Given the description of an element on the screen output the (x, y) to click on. 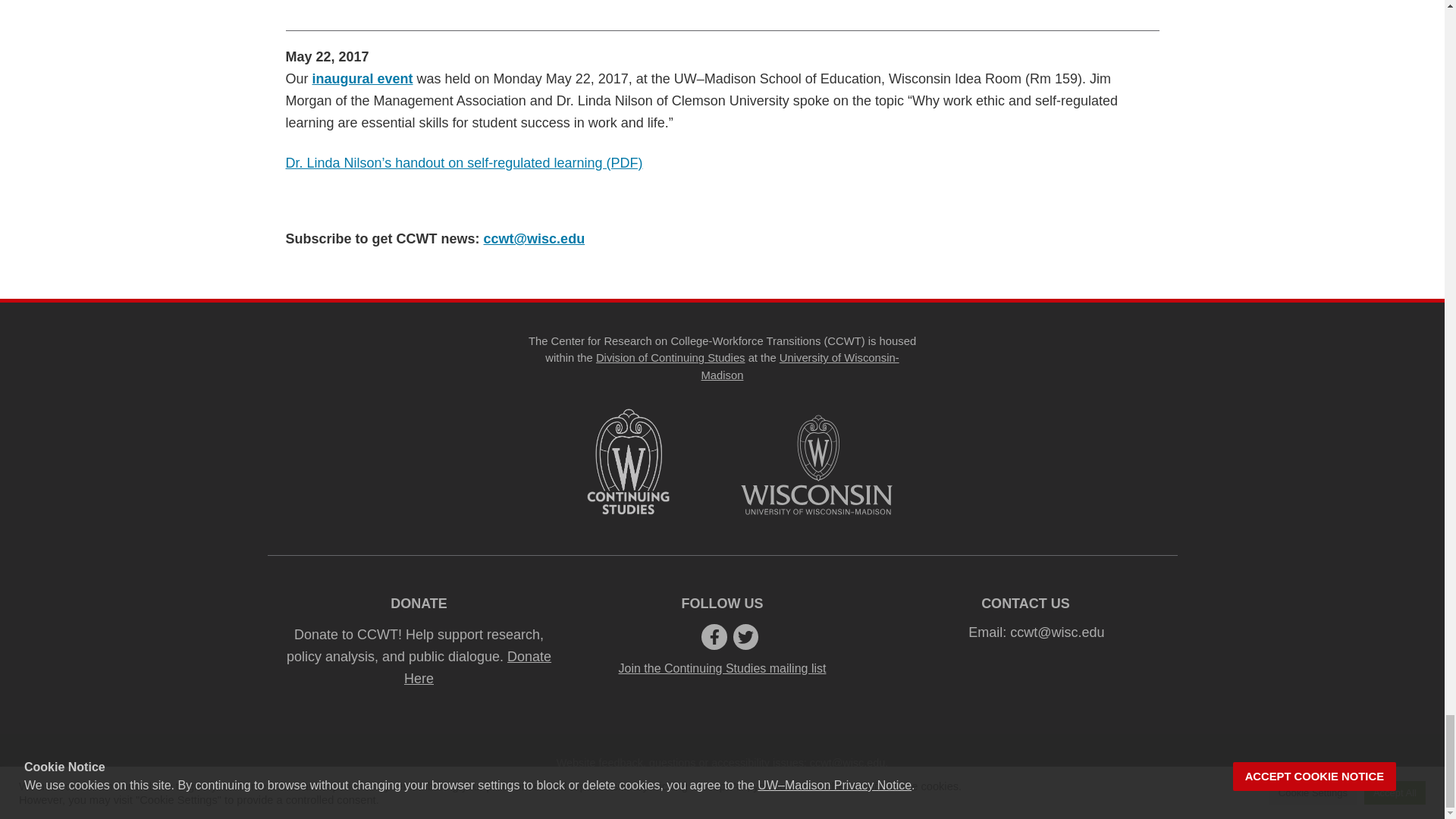
University logo that links to main university website (815, 464)
facebook (714, 637)
twitter (746, 637)
